Given the description of an element on the screen output the (x, y) to click on. 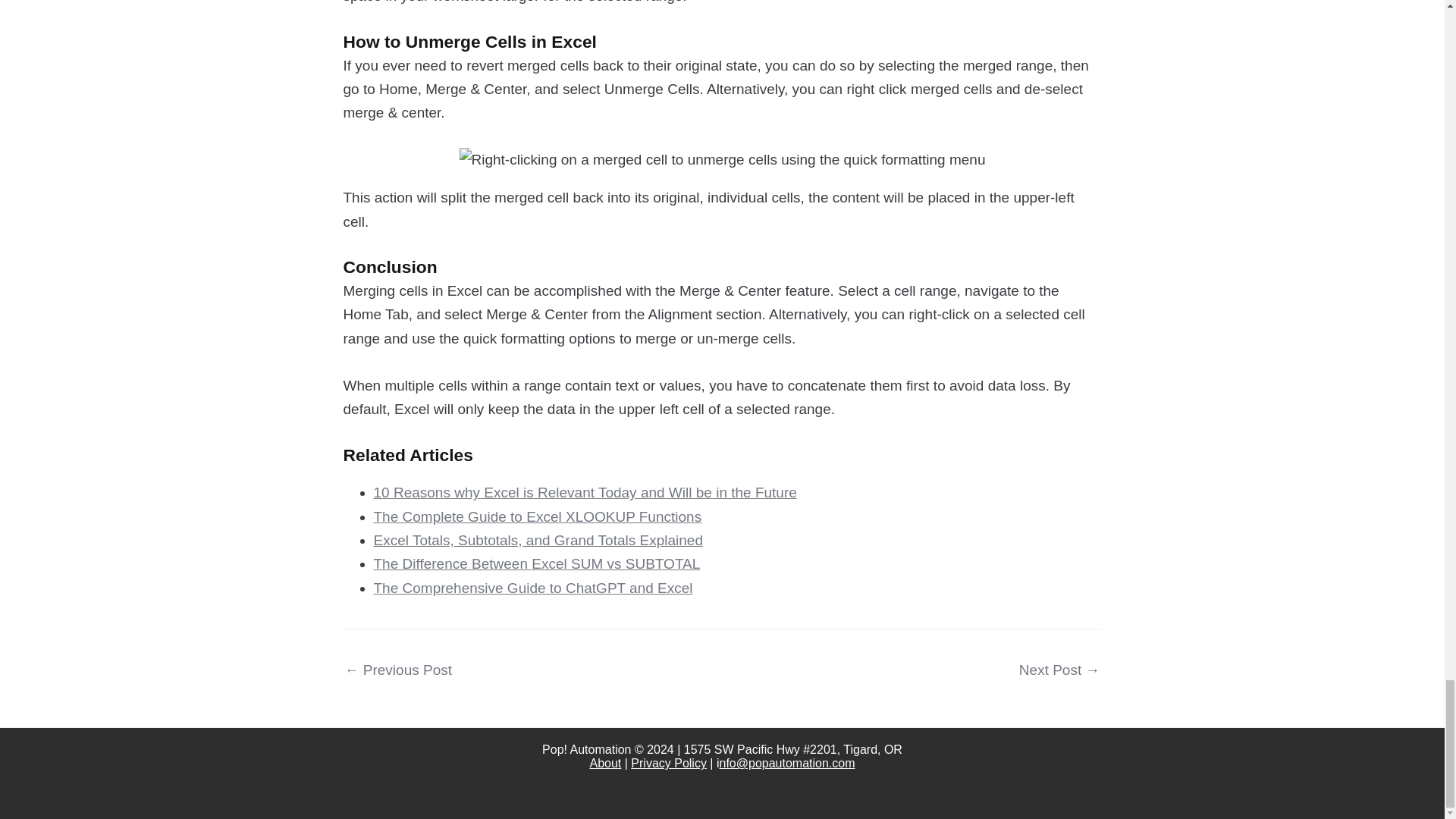
How to Troubleshoot and Fix Excel Display Problems (397, 669)
How to Prevent Excel from Converting Dates to Numbers (1059, 669)
